Given the description of an element on the screen output the (x, y) to click on. 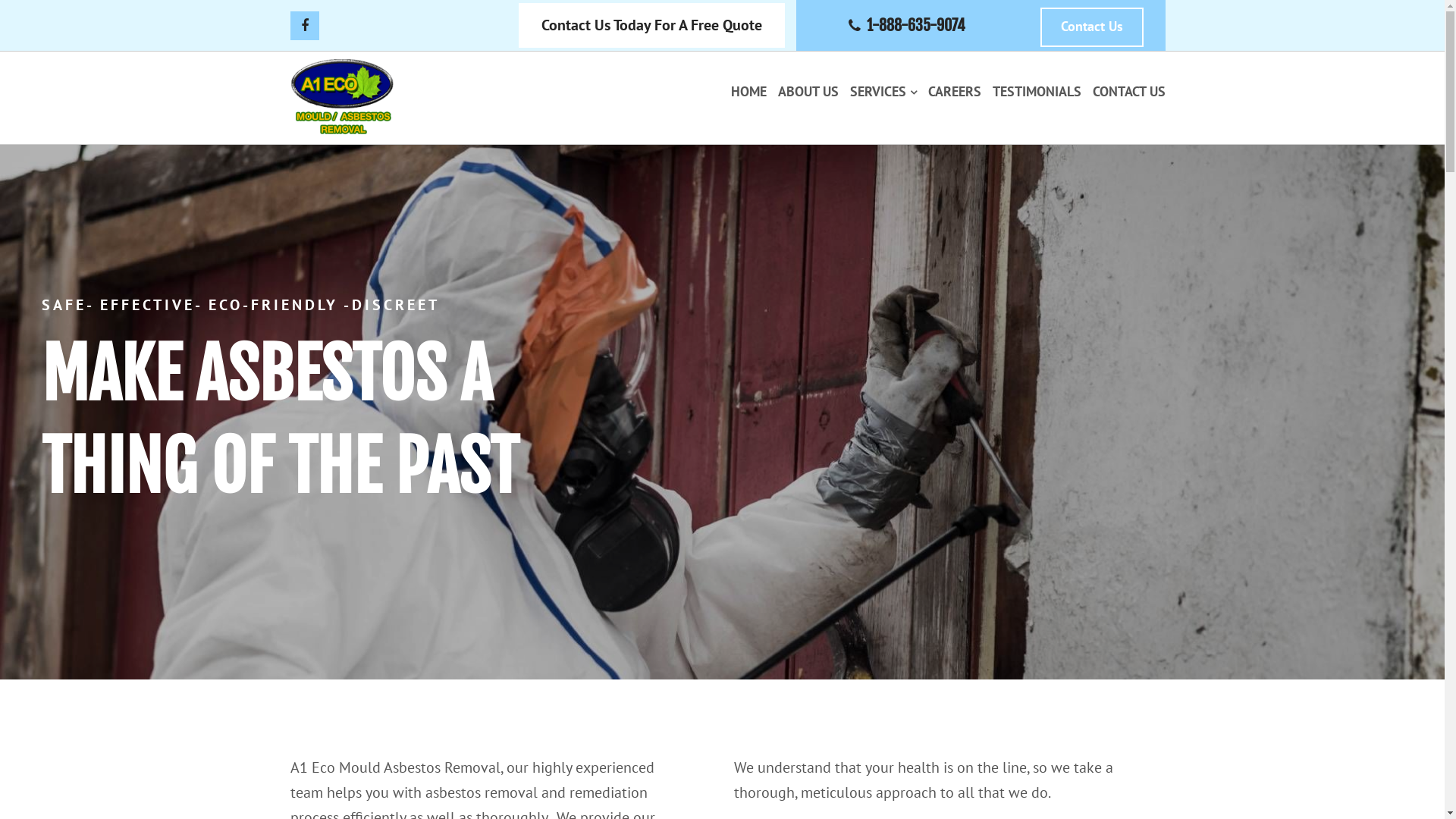
HOME Element type: text (748, 93)
ABOUT US Element type: text (808, 93)
TESTIMONIALS Element type: text (1036, 93)
Contact Us Today For A Free Quote Element type: text (651, 25)
Facebook Element type: hover (303, 24)
CAREERS Element type: text (954, 93)
SERVICES Element type: text (883, 93)
Skip to content Element type: text (48, 10)
Contact Us Element type: text (1091, 27)
1-888-635-9074 Element type: text (915, 24)
CONTACT US Element type: text (1128, 93)
